Given the description of an element on the screen output the (x, y) to click on. 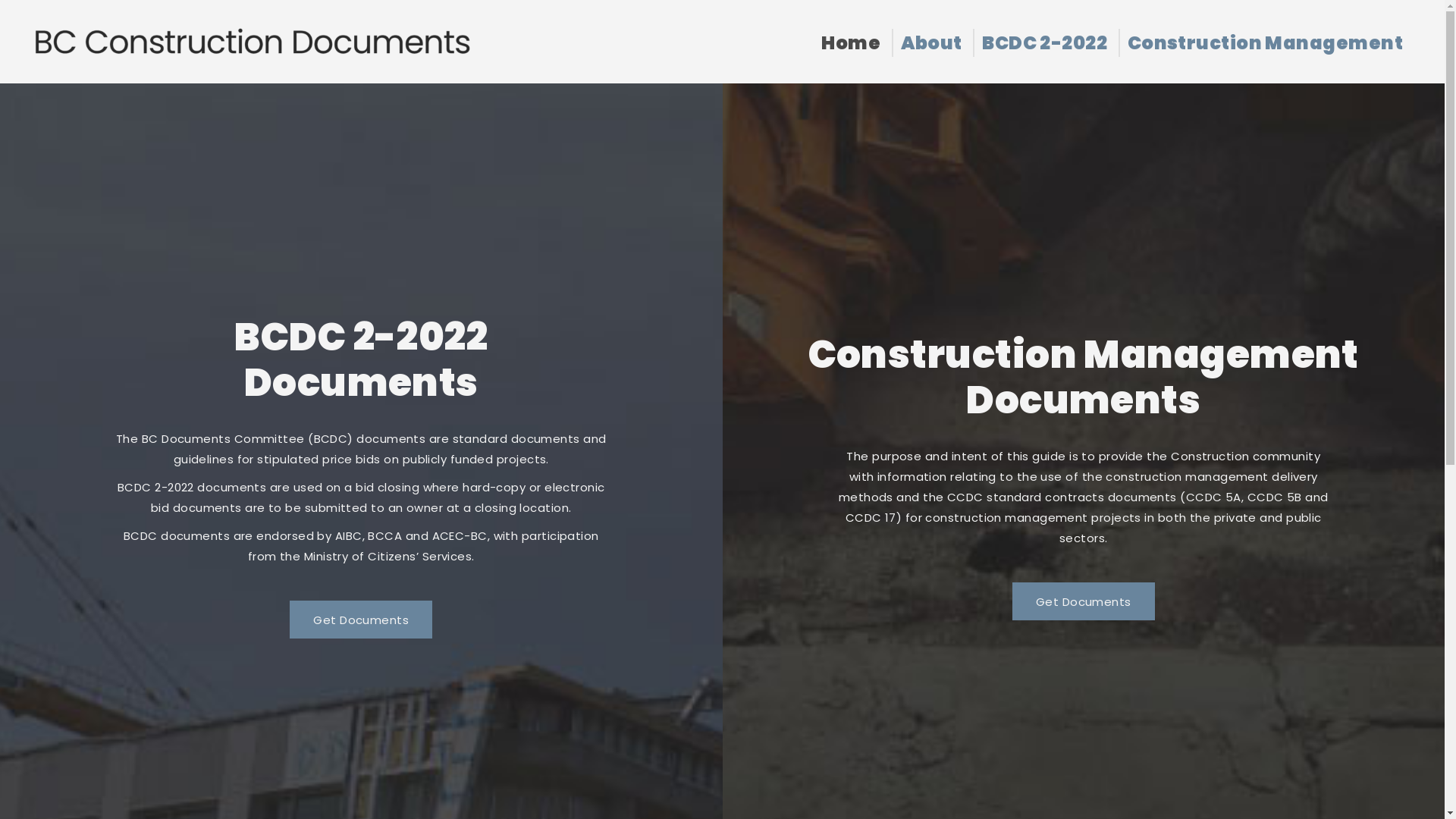
Construction Management Element type: text (1264, 42)
Get Documents Element type: text (1083, 601)
BCDC 2-2022 Element type: text (1044, 42)
Get Documents Element type: text (360, 619)
About Element type: text (931, 42)
Home Element type: text (850, 42)
